Given the description of an element on the screen output the (x, y) to click on. 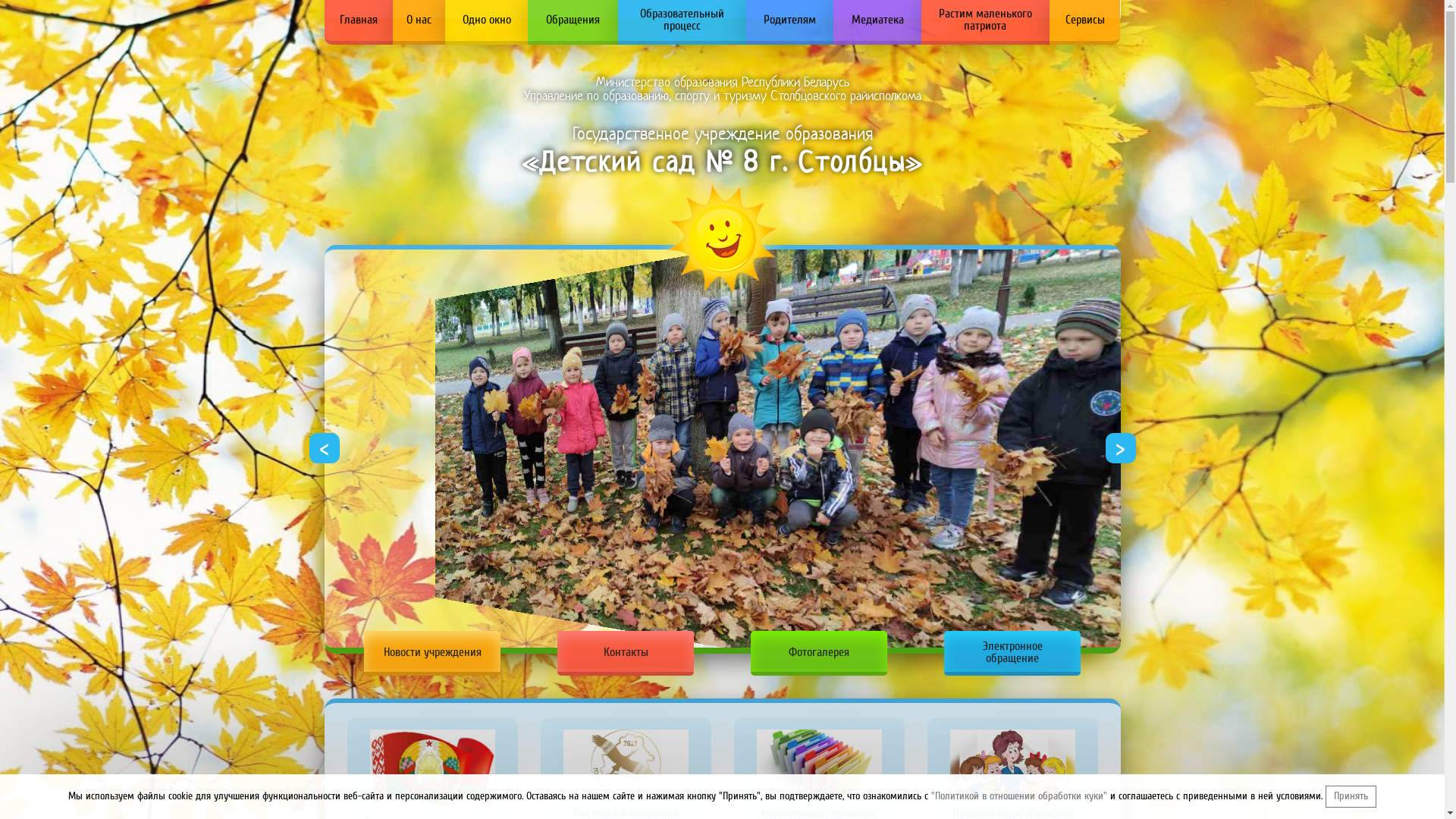
> Element type: text (1120, 448)
< Element type: text (324, 448)
